Given the description of an element on the screen output the (x, y) to click on. 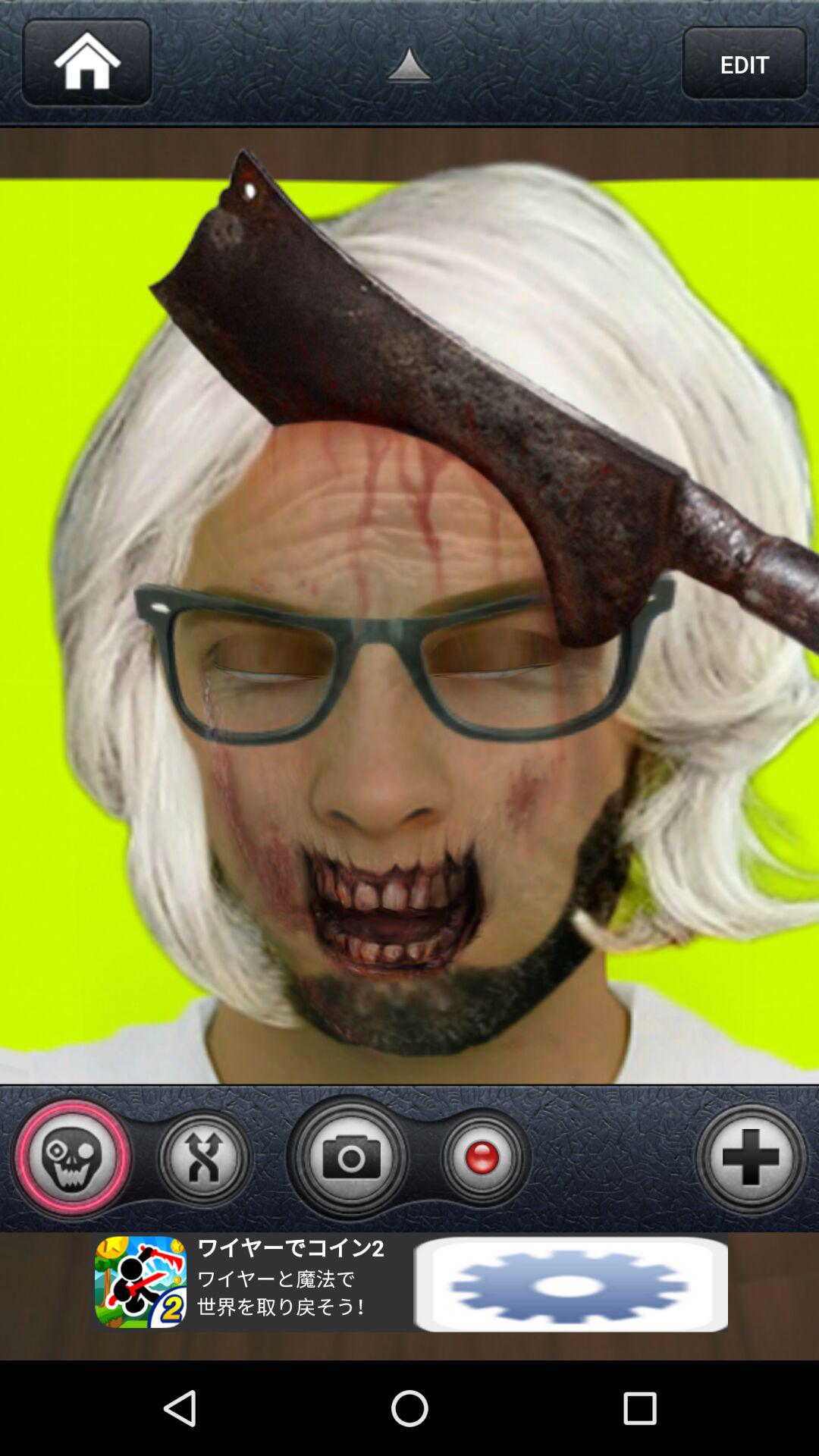
add a picture (751, 1158)
